Given the description of an element on the screen output the (x, y) to click on. 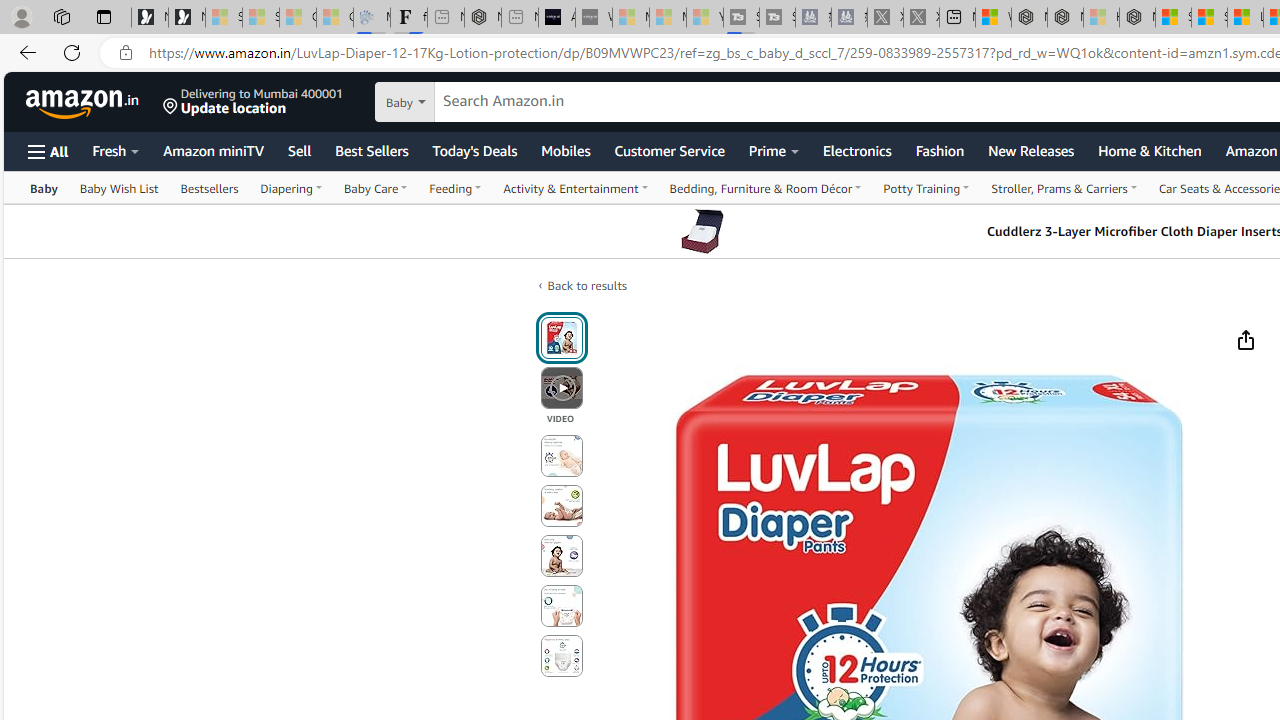
X - Sleeping (921, 17)
Nordace - Nordace Siena Is Not An Ordinary Backpack (1137, 17)
What's the best AI voice generator? - voice.ai - Sleeping (593, 17)
AI Voice Changer for PC and Mac - Voice.ai (556, 17)
